Given the description of an element on the screen output the (x, y) to click on. 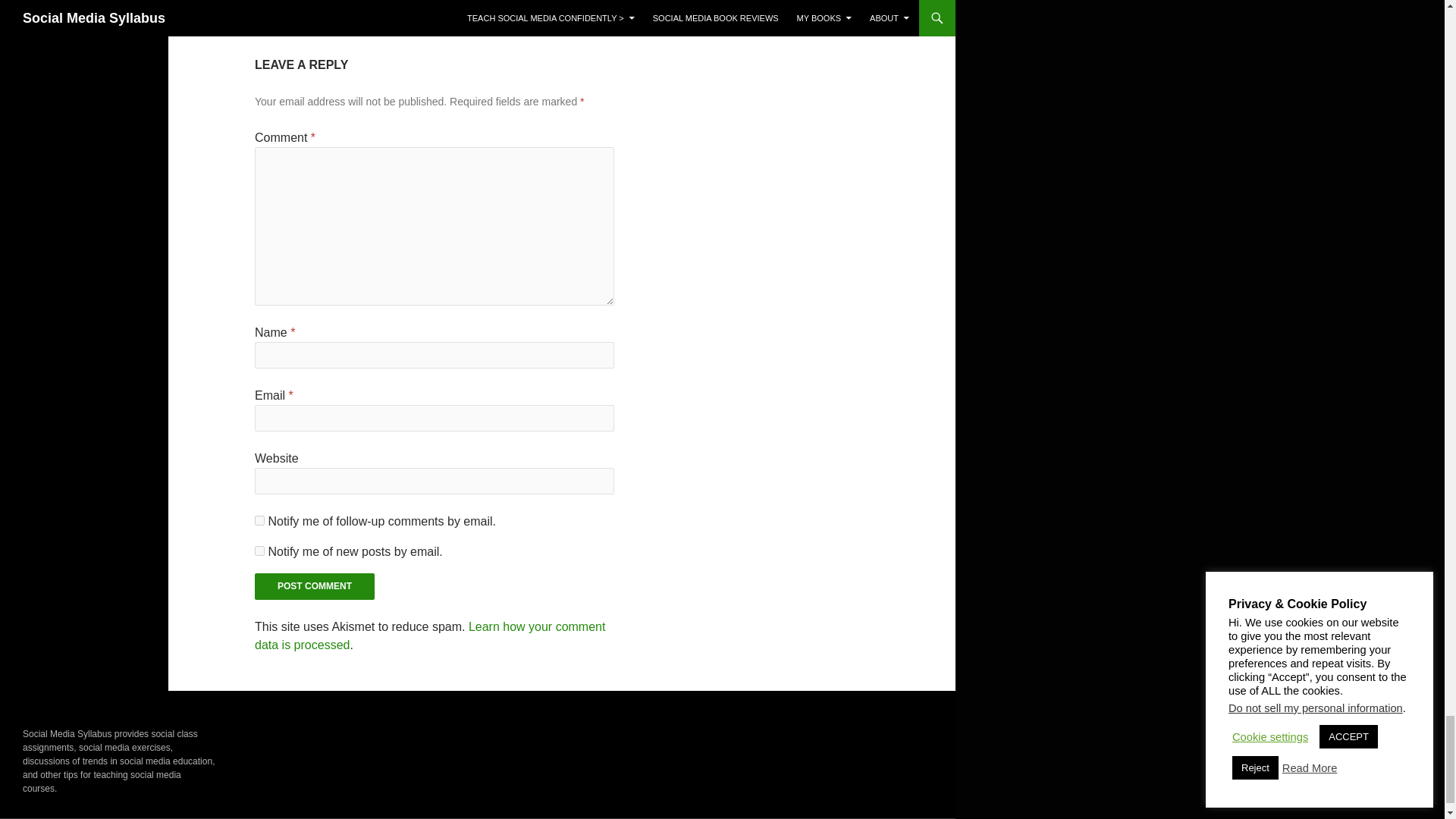
subscribe (259, 520)
Post Comment (314, 586)
subscribe (259, 551)
